Given the description of an element on the screen output the (x, y) to click on. 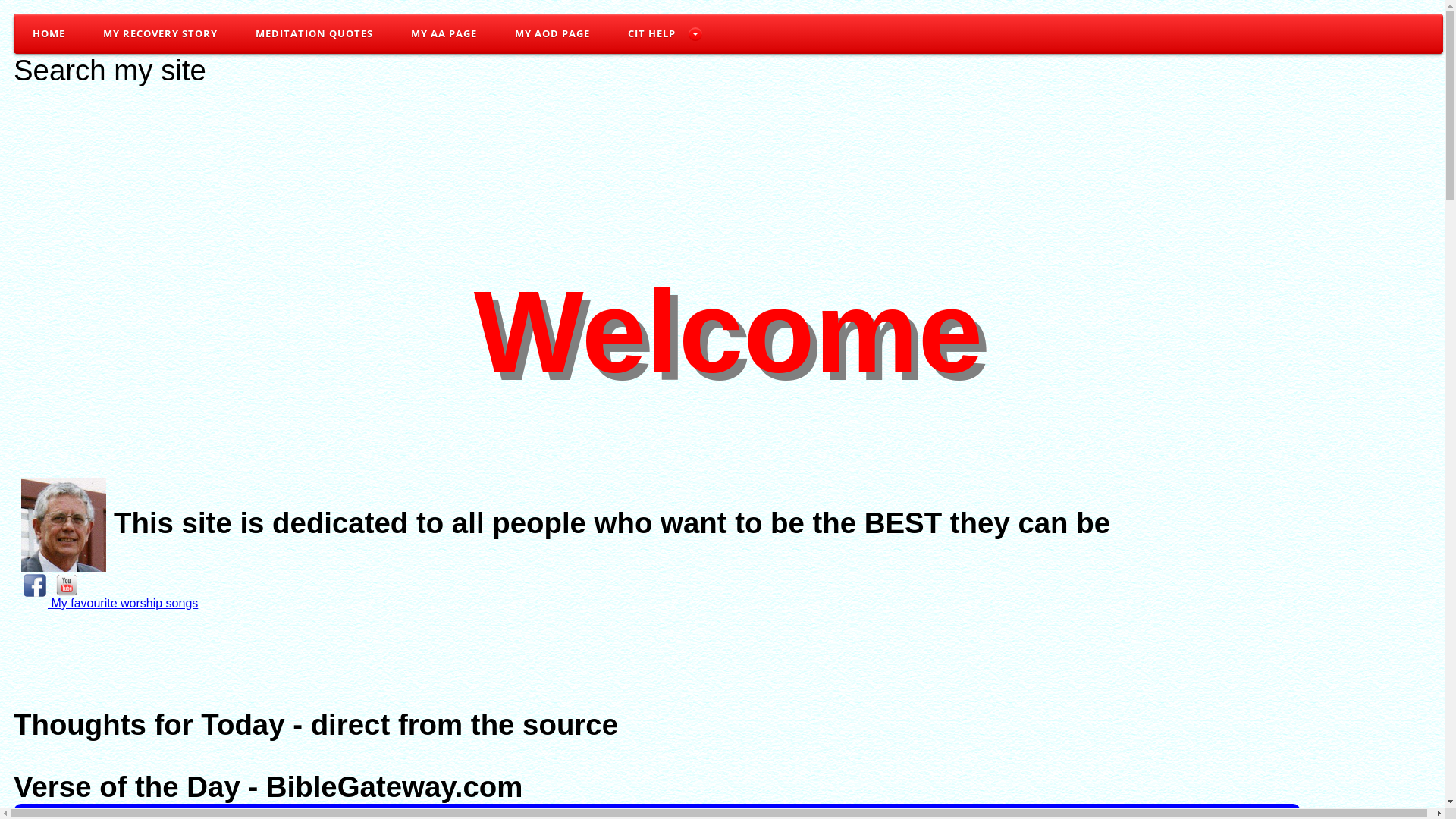
MY AOD PAGE Element type: text (551, 33)
find me on Facebook Element type: hover (29, 585)
CIT HELP Element type: text (657, 33)
MY AA PAGE Element type: text (443, 33)
MEDITATION QUOTES Element type: text (314, 33)
HOME Element type: text (48, 33)
MY RECOVERY STORY Element type: text (160, 33)
 My favourite worship songs Element type: text (122, 592)
